Given the description of an element on the screen output the (x, y) to click on. 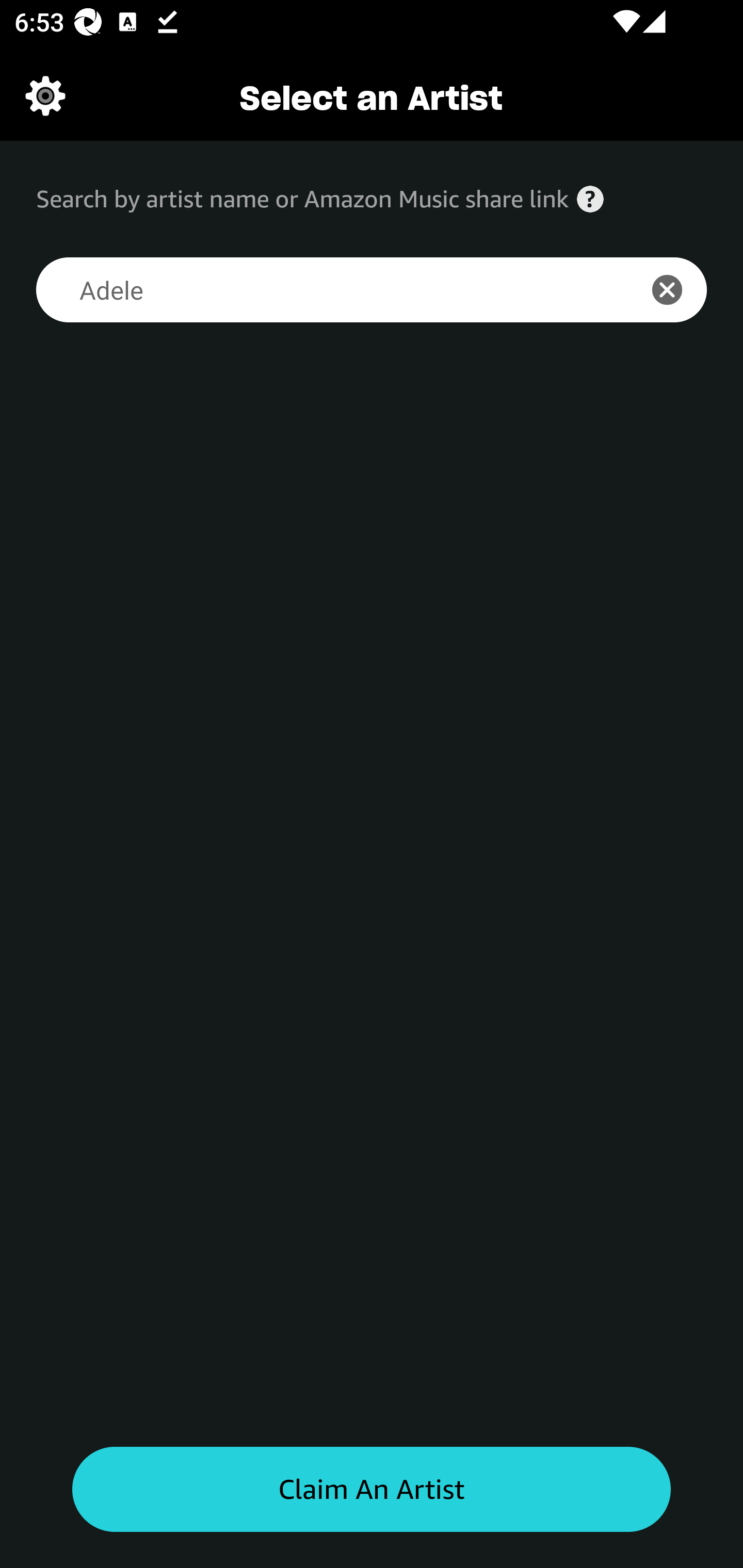
Help  icon (589, 199)
Adele Search for an artist search bar (324, 290)
 icon (677, 290)
Claim an artist button Claim An Artist (371, 1489)
